Given the description of an element on the screen output the (x, y) to click on. 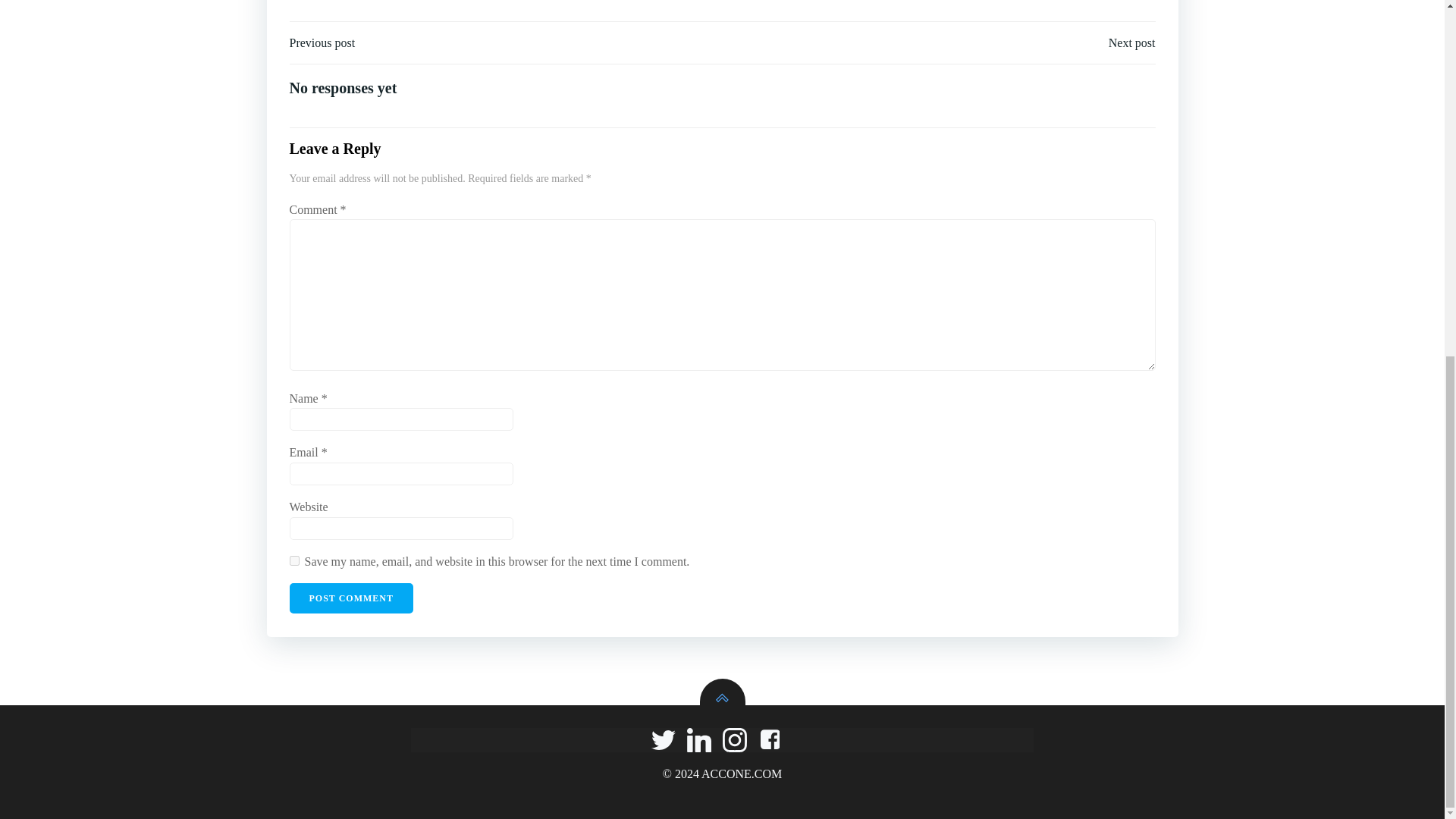
Post Comment (351, 598)
Previous post (322, 43)
Next post (1132, 43)
Post Comment (351, 598)
yes (294, 560)
